Given the description of an element on the screen output the (x, y) to click on. 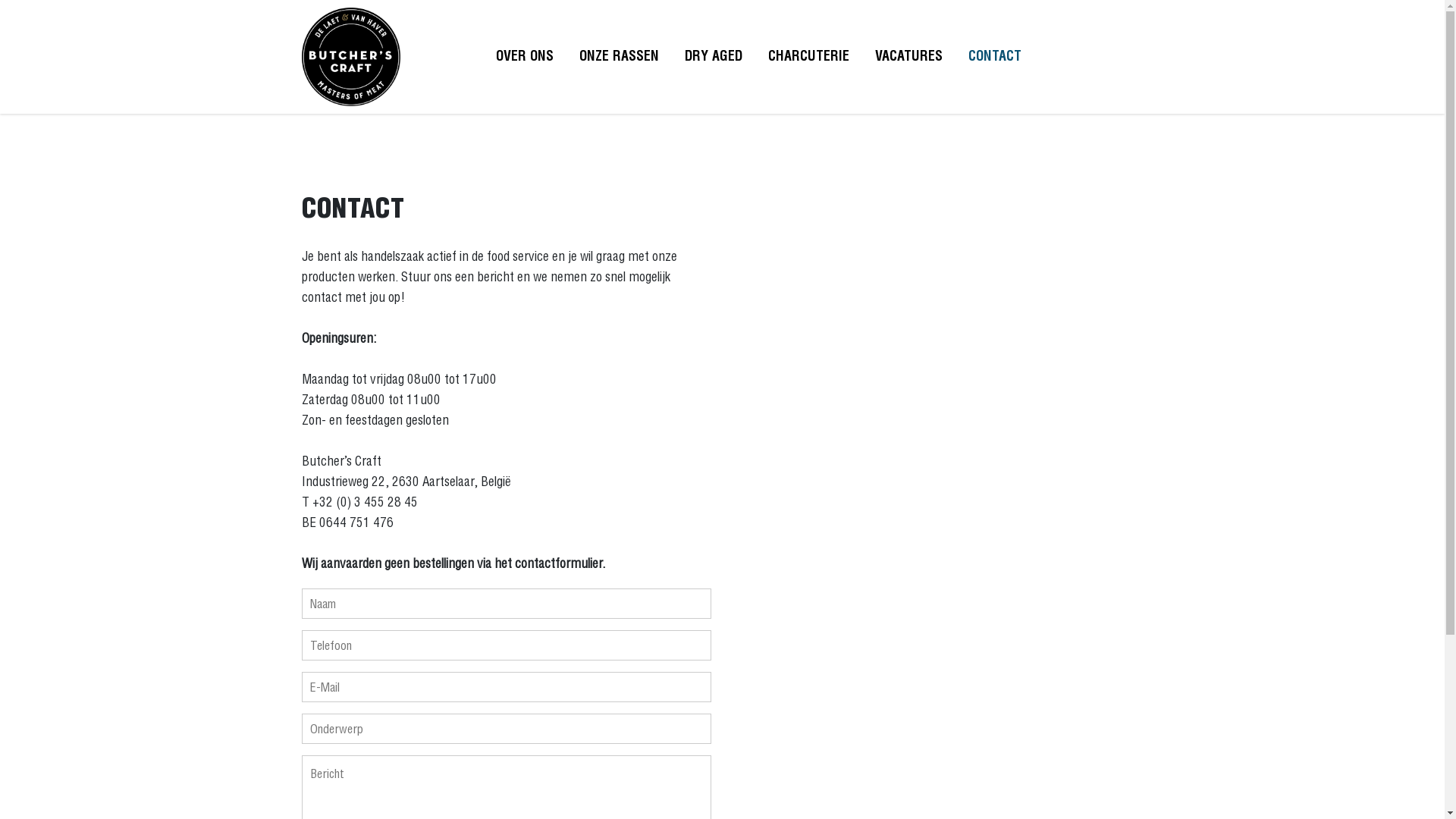
VACATURES Element type: text (908, 55)
OVER ONS Element type: text (524, 55)
CHARCUTERIE Element type: text (808, 55)
ONZE RASSEN Element type: text (618, 55)
DRY AGED Element type: text (713, 55)
CONTACT Element type: text (994, 55)
Masters of Meat Element type: hover (350, 56)
